Given the description of an element on the screen output the (x, y) to click on. 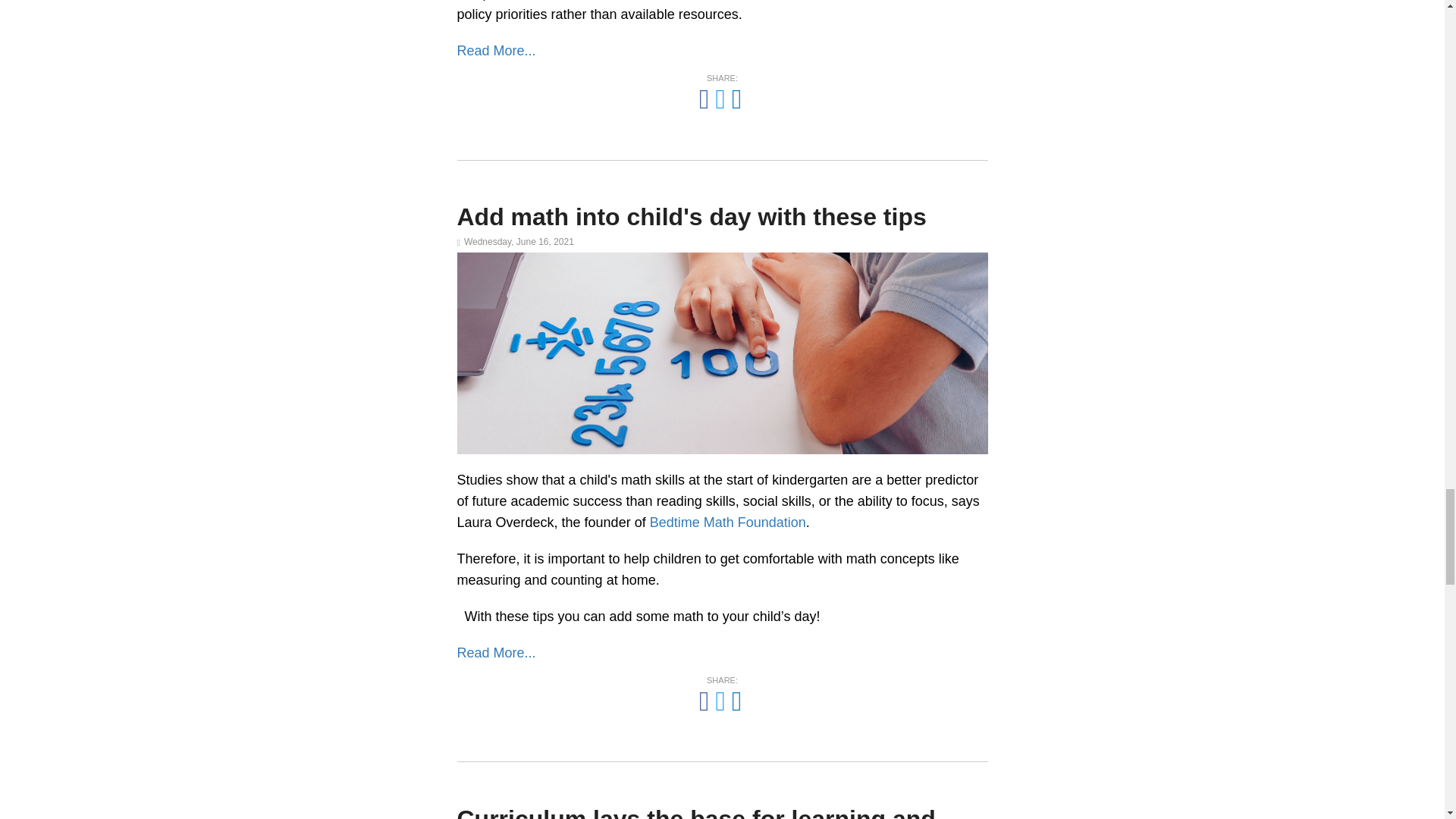
Bedtime Math Foundation (727, 522)
Curriculum lays the base for learning and later education (695, 812)
Add math into child's day with these tips (691, 216)
Read More... (496, 652)
Read More... (496, 50)
